Given the description of an element on the screen output the (x, y) to click on. 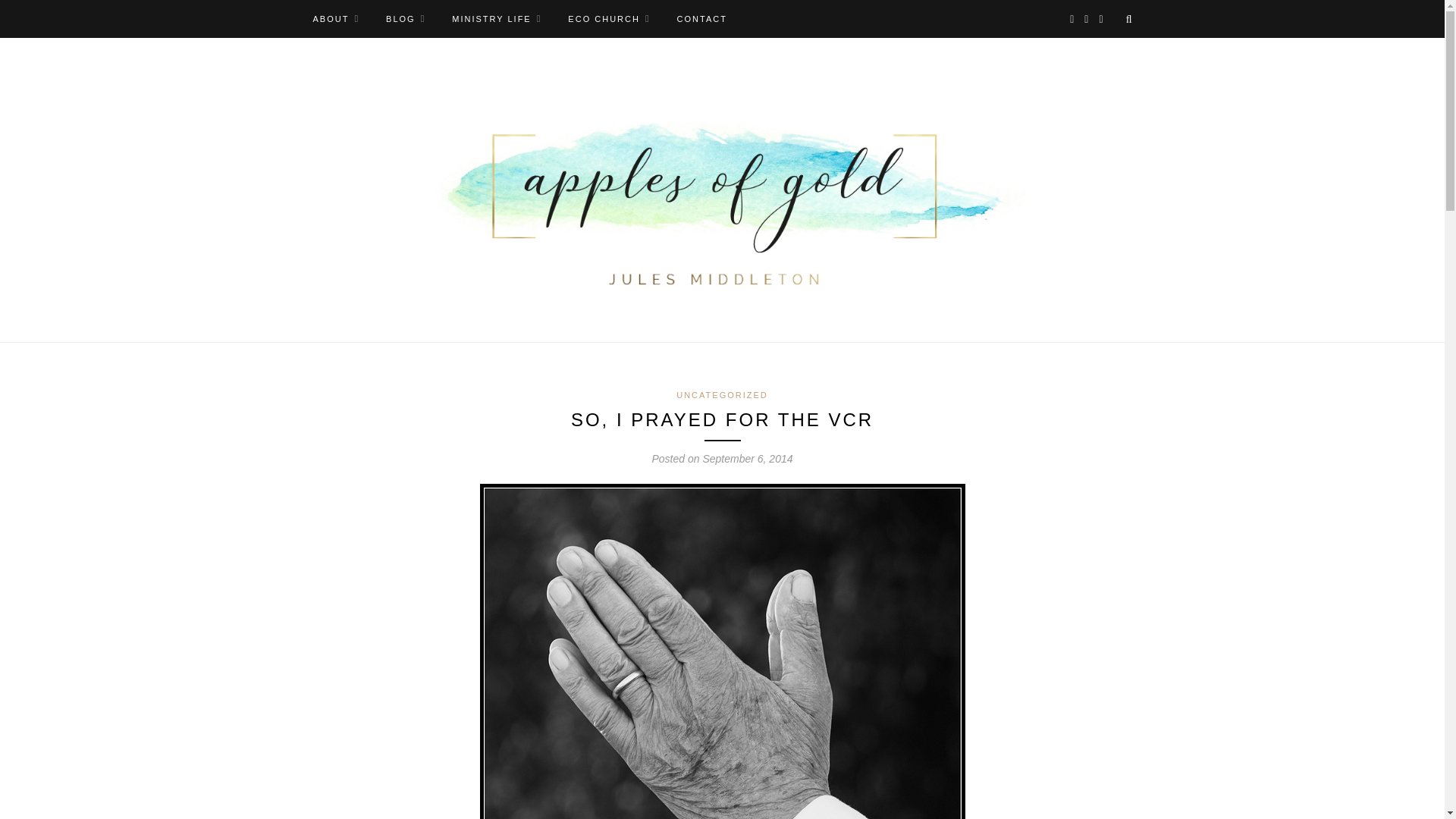
CONTACT (701, 18)
BLOG (405, 18)
MINISTRY LIFE (496, 18)
ABOUT (336, 18)
ECO CHURCH (608, 18)
